Given the description of an element on the screen output the (x, y) to click on. 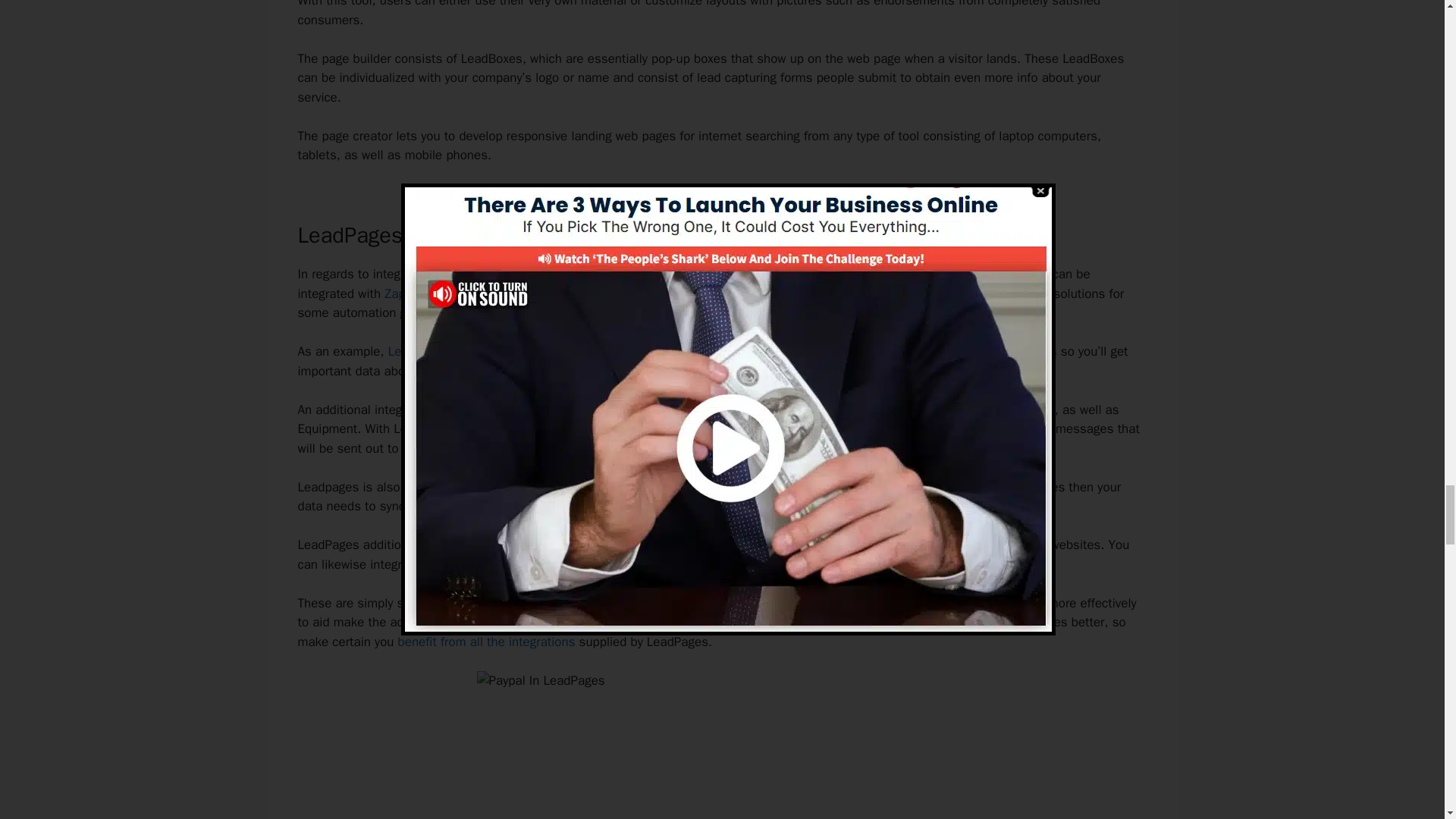
Zapier (401, 293)
benefit from all the integrations (486, 641)
Leadpages integrates (448, 351)
Google Analytics (1010, 351)
